Given the description of an element on the screen output the (x, y) to click on. 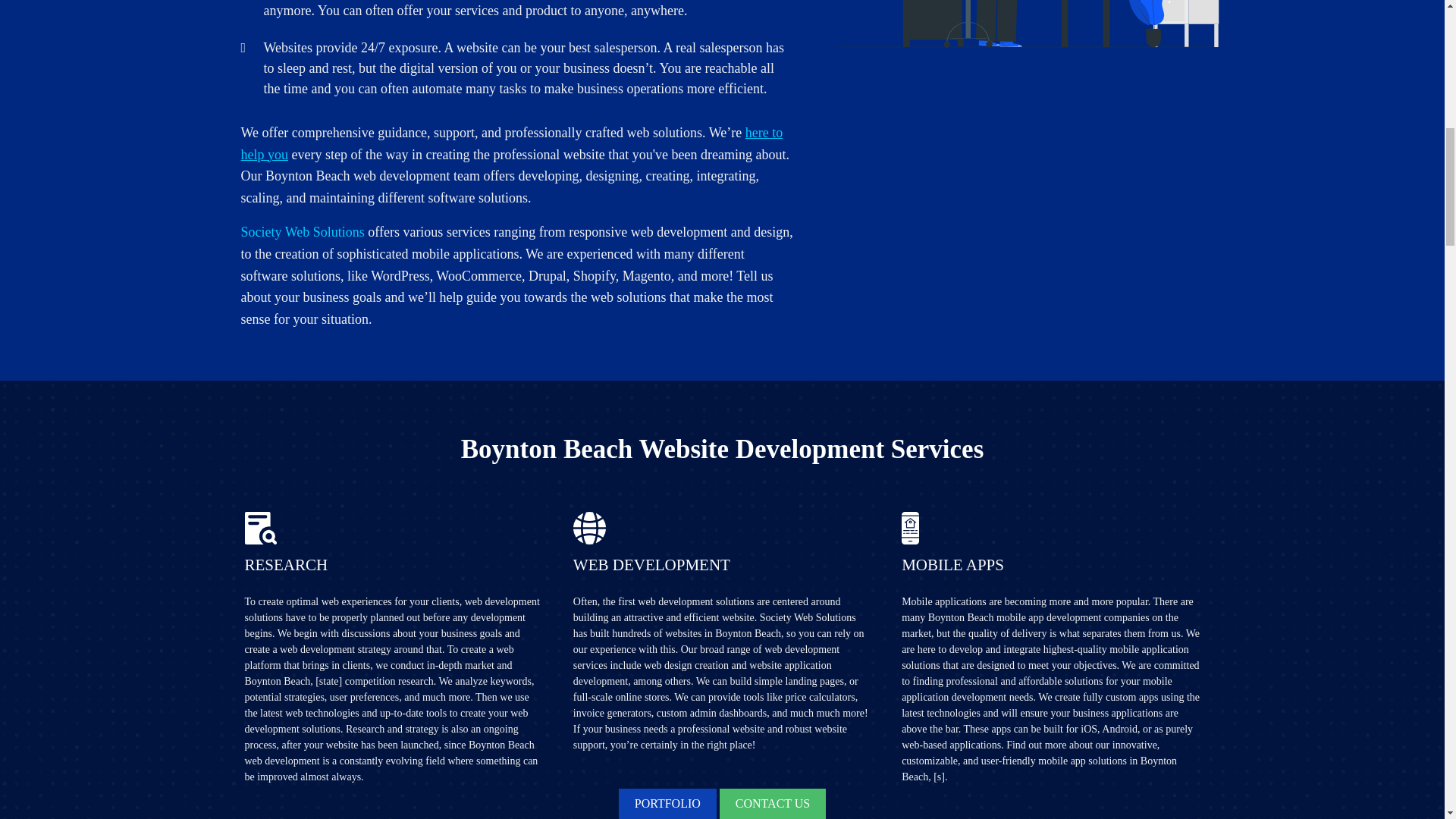
Society Web Solutions (303, 231)
here to help you (512, 143)
